Given the description of an element on the screen output the (x, y) to click on. 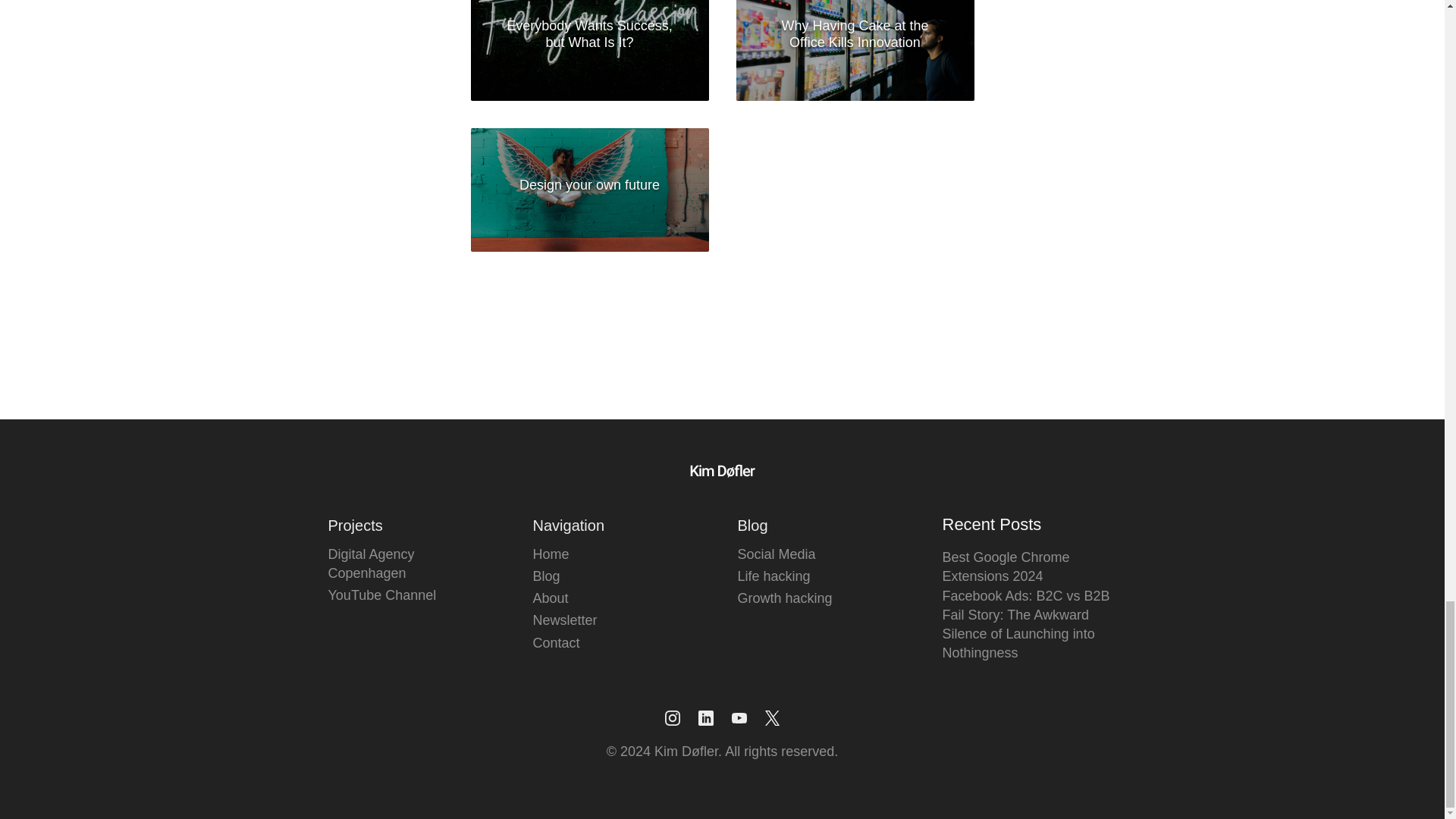
Everybody Wants Success, but What Is It? (589, 56)
Contact (571, 643)
Facebook Ads: B2C vs B2B (1025, 595)
Why Having Cake at the Office Kills Innovation (854, 56)
Blog (571, 576)
Design your own future (589, 189)
Home (571, 554)
YouTube Channel (414, 595)
Best Google Chrome Extensions 2024 (1005, 566)
